Given the description of an element on the screen output the (x, y) to click on. 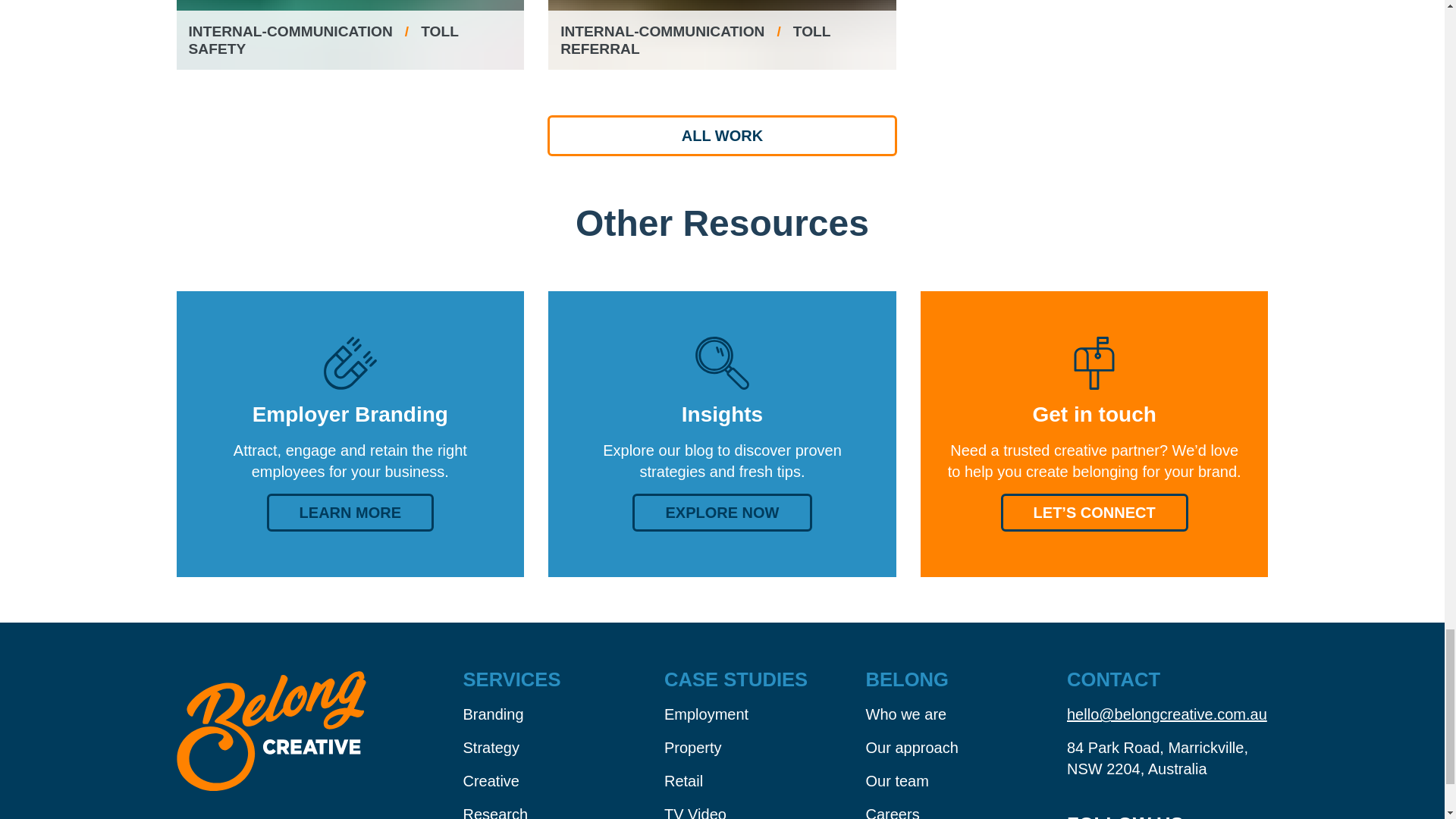
Branding (563, 707)
Research (563, 805)
Employment (764, 707)
LEARN MORE (349, 512)
EXPLORE NOW (720, 512)
Creative (563, 774)
ALL WORK (721, 135)
Strategy (563, 741)
